Given the description of an element on the screen output the (x, y) to click on. 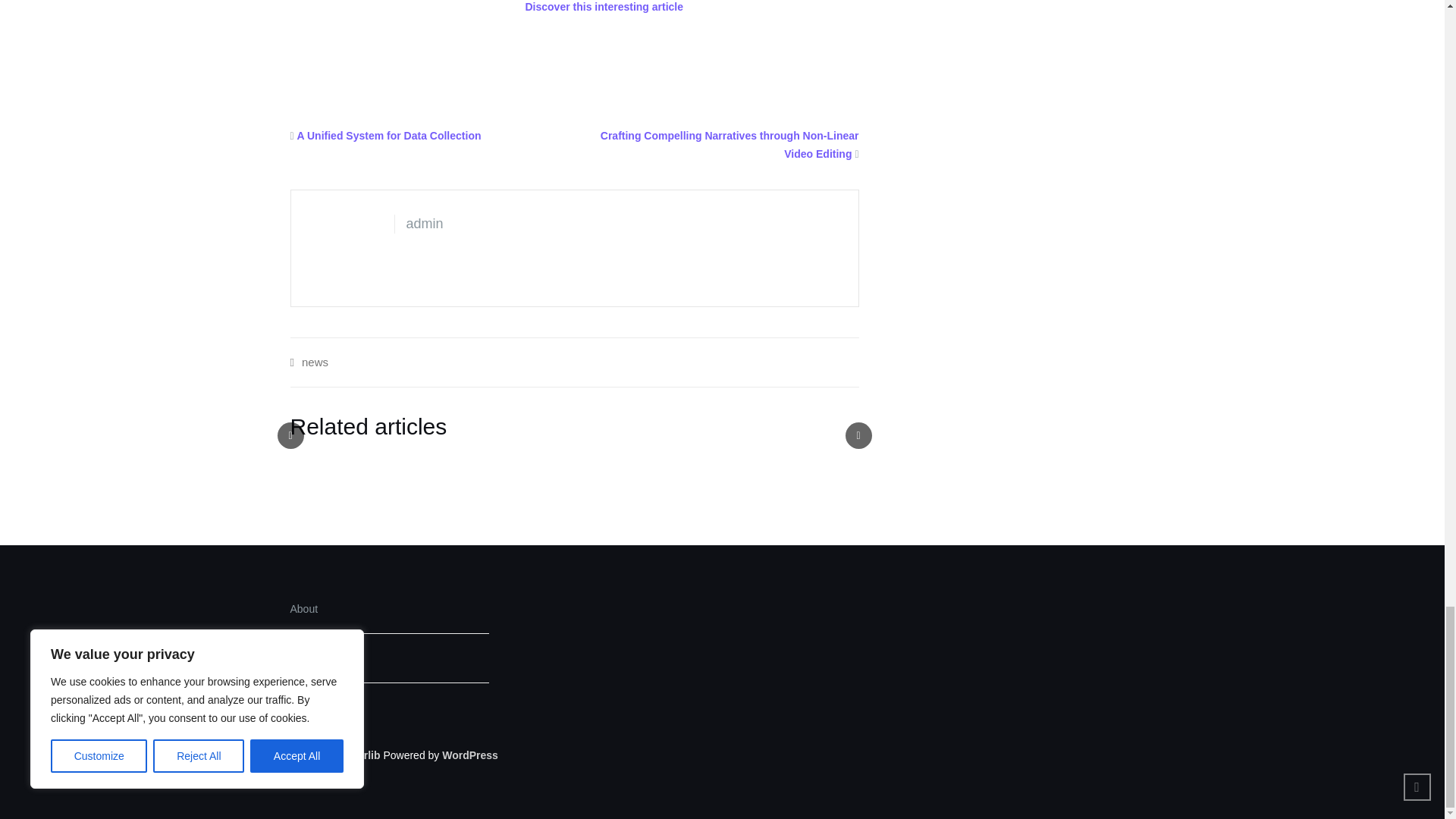
news (315, 361)
Colorlib (360, 755)
A Unified System for Data Collection (389, 135)
Discover this interesting article (603, 6)
WordPress.org (469, 755)
